Given the description of an element on the screen output the (x, y) to click on. 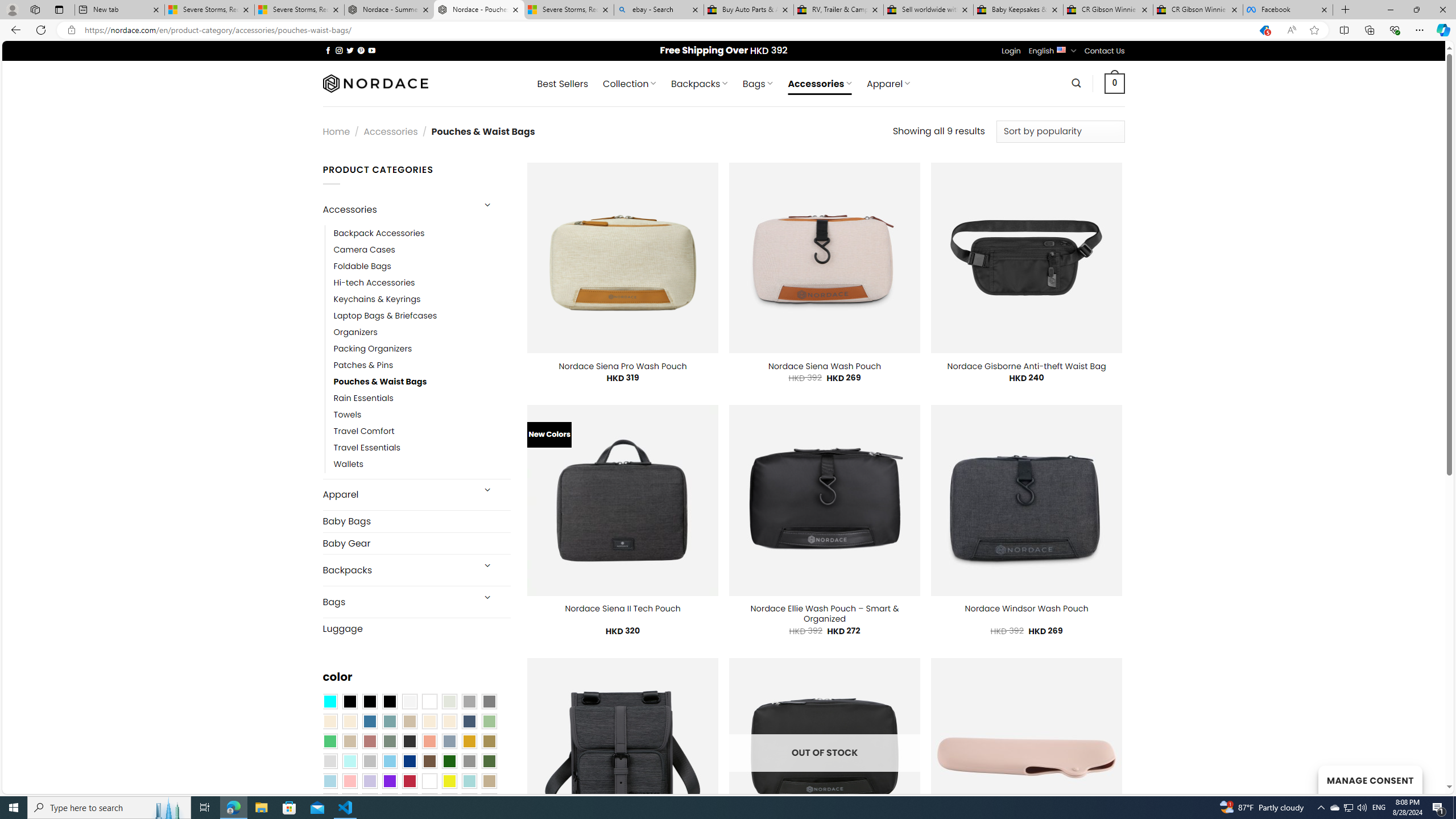
English (1061, 49)
Follow on Facebook (327, 49)
Mint (349, 761)
Backpacks (397, 570)
Login (1010, 50)
Yellow (449, 780)
  Best Sellers (562, 83)
Blue Sage (389, 721)
Patches & Pins (422, 365)
Green (488, 761)
